Given the description of an element on the screen output the (x, y) to click on. 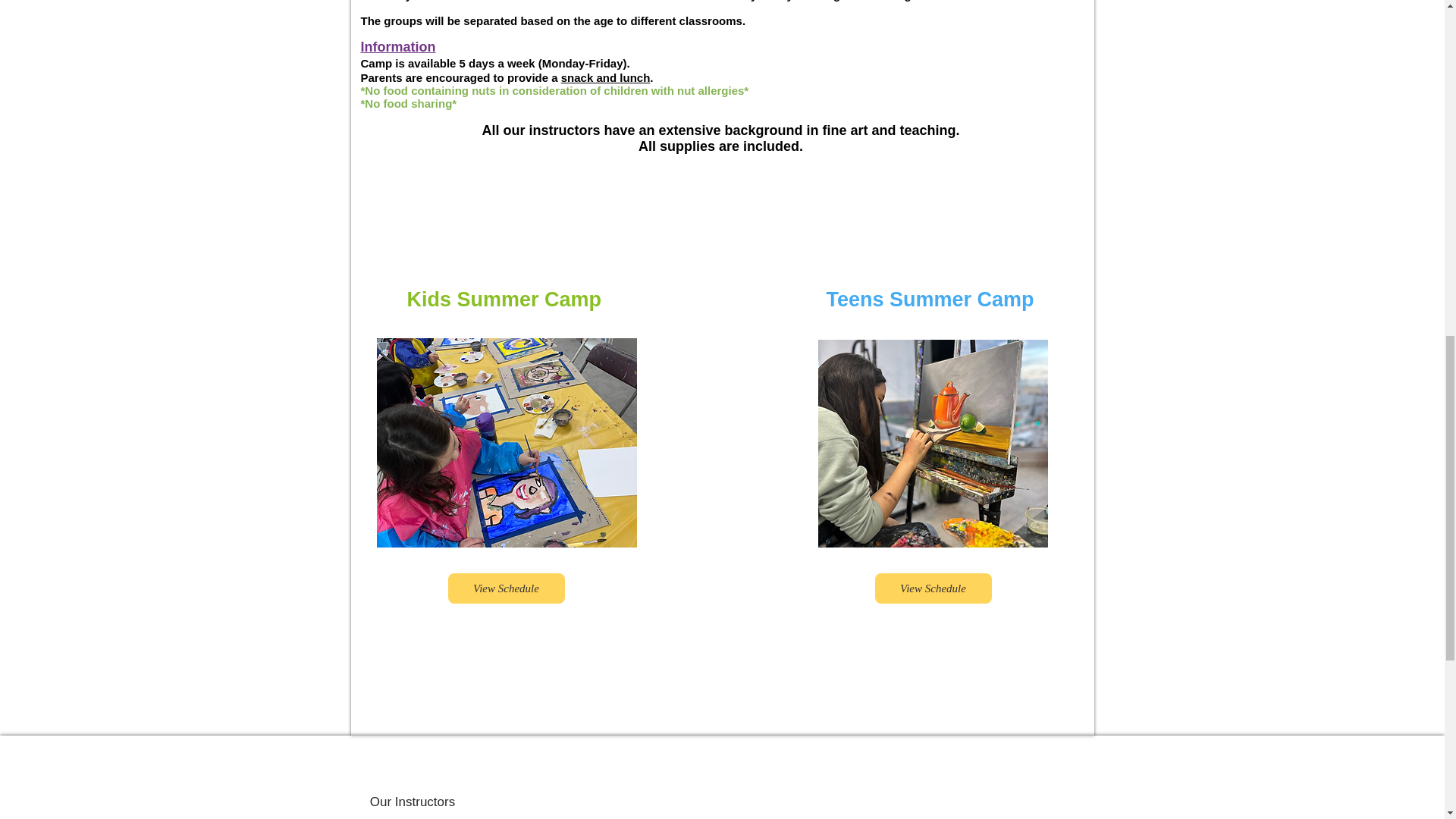
View Schedule (933, 588)
Our Instructors (412, 802)
View Schedule (505, 588)
